Given the description of an element on the screen output the (x, y) to click on. 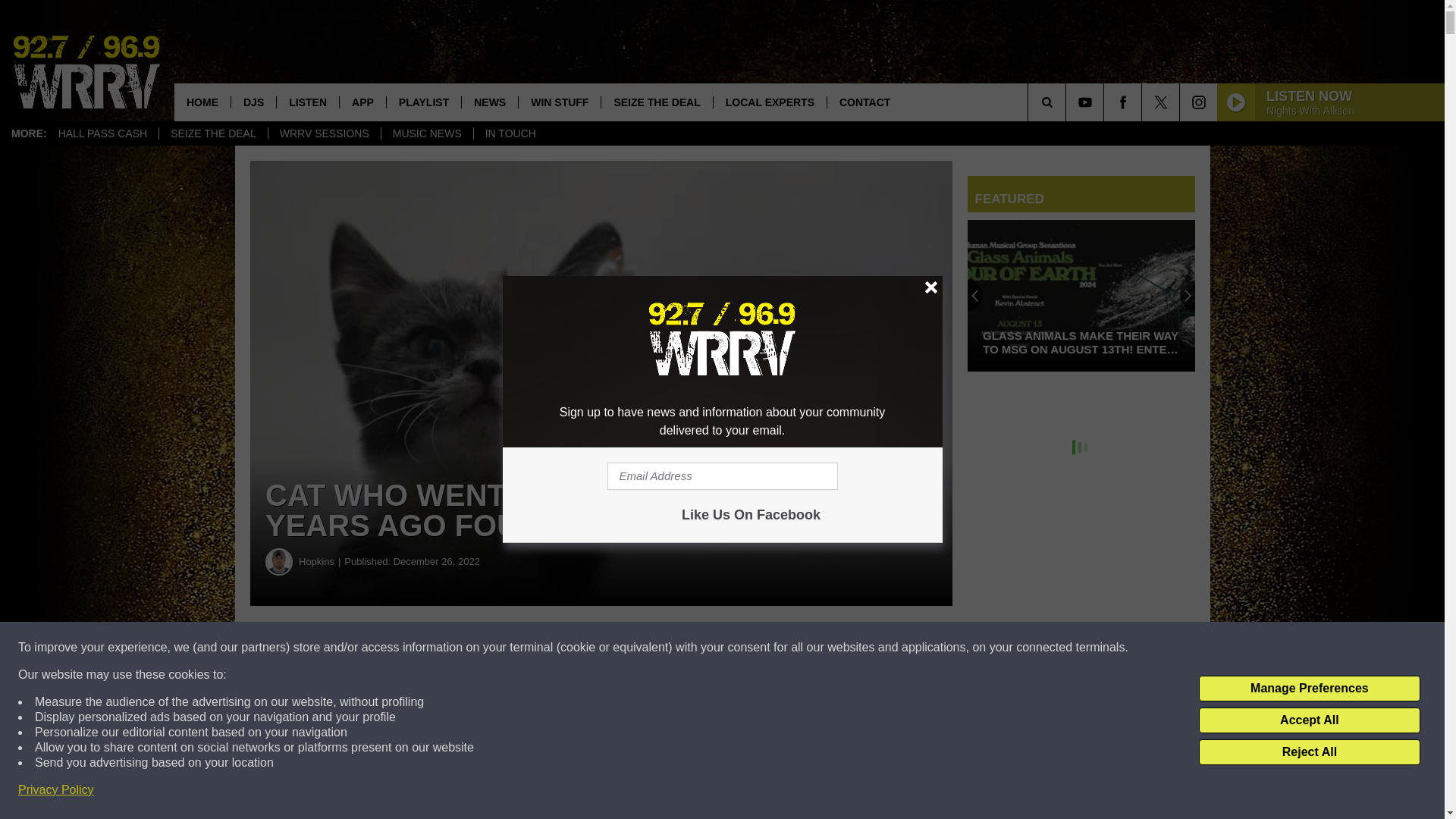
APP (362, 102)
Privacy Policy (55, 789)
HOME (202, 102)
SEARCH (1068, 102)
Share on Facebook (460, 647)
SEARCH (1068, 102)
WRRV SESSIONS (323, 133)
WIN STUFF (558, 102)
SEIZE THE DEAL (655, 102)
IN TOUCH (510, 133)
Email Address (722, 475)
DJS (253, 102)
LISTEN (307, 102)
Accept All (1309, 720)
Share on Twitter (741, 647)
